Given the description of an element on the screen output the (x, y) to click on. 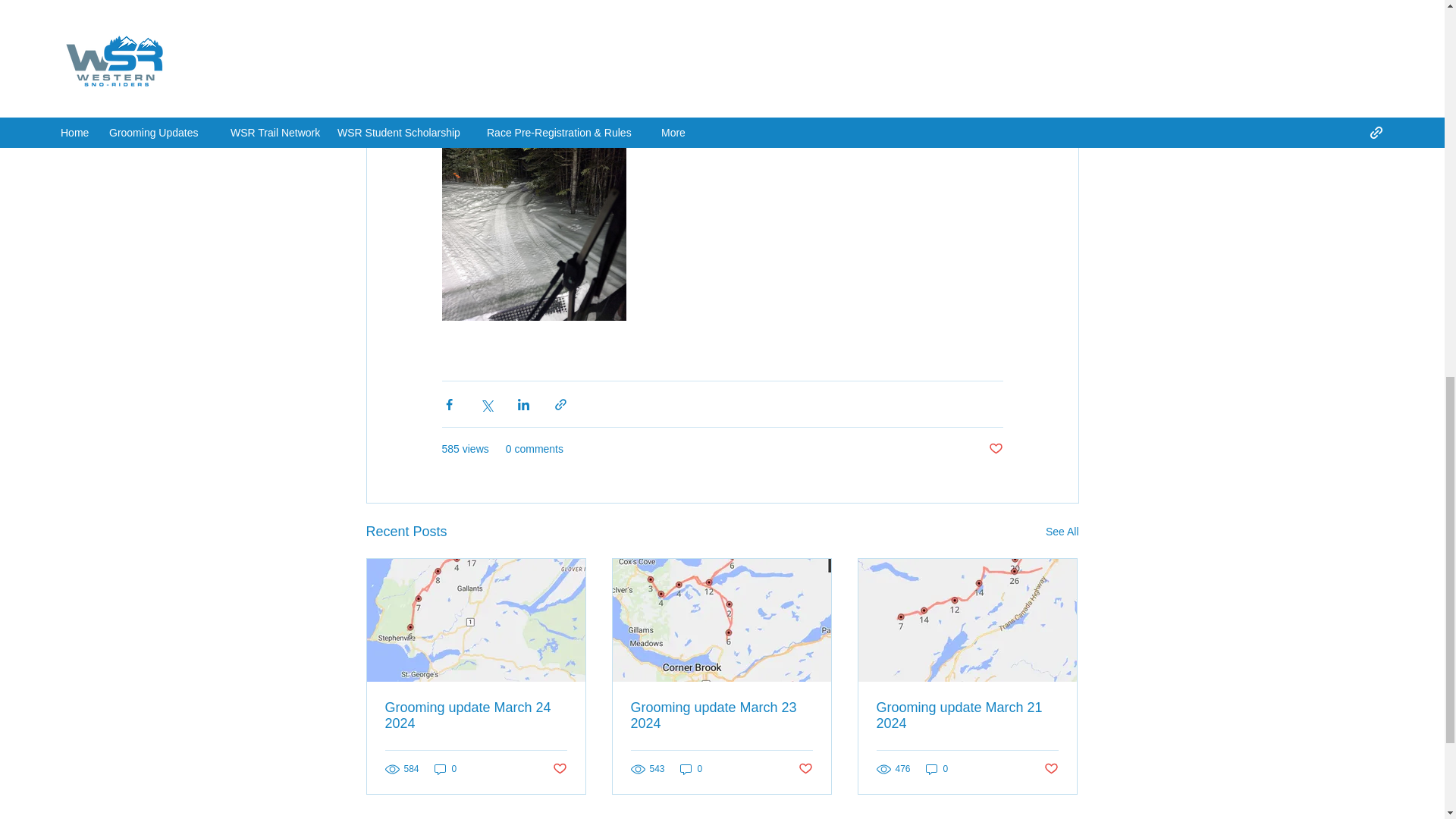
Post not marked as liked (995, 449)
Post not marked as liked (558, 769)
Grooming update March 21 2024 (967, 716)
0 (445, 768)
Grooming update March 23 2024 (721, 716)
Post not marked as liked (804, 769)
0 (937, 768)
Post not marked as liked (1050, 769)
0 (691, 768)
Grooming update March 24 2024 (476, 716)
